Given the description of an element on the screen output the (x, y) to click on. 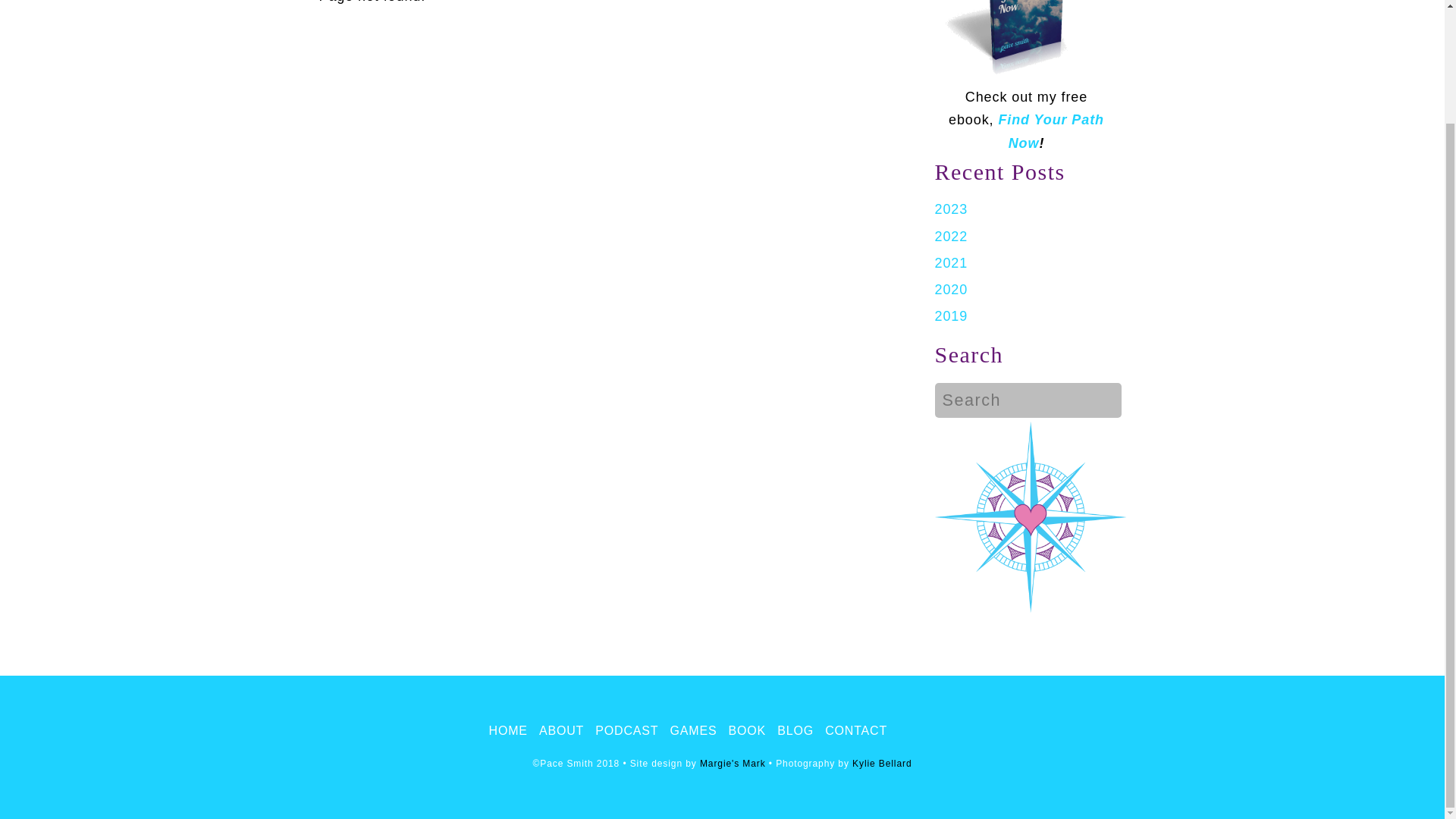
CONTACT (856, 730)
PODCAST (626, 730)
GAMES (693, 730)
TWITTER (943, 730)
Kylie Bellard (881, 763)
Margie's Mark (732, 763)
FACEBOOK (909, 730)
BLOG (794, 730)
HOME (507, 730)
2020 (951, 289)
Find Your Path Now (1050, 131)
ABOUT (561, 730)
2019 (951, 315)
BOOK (747, 730)
2022 (951, 236)
